Given the description of an element on the screen output the (x, y) to click on. 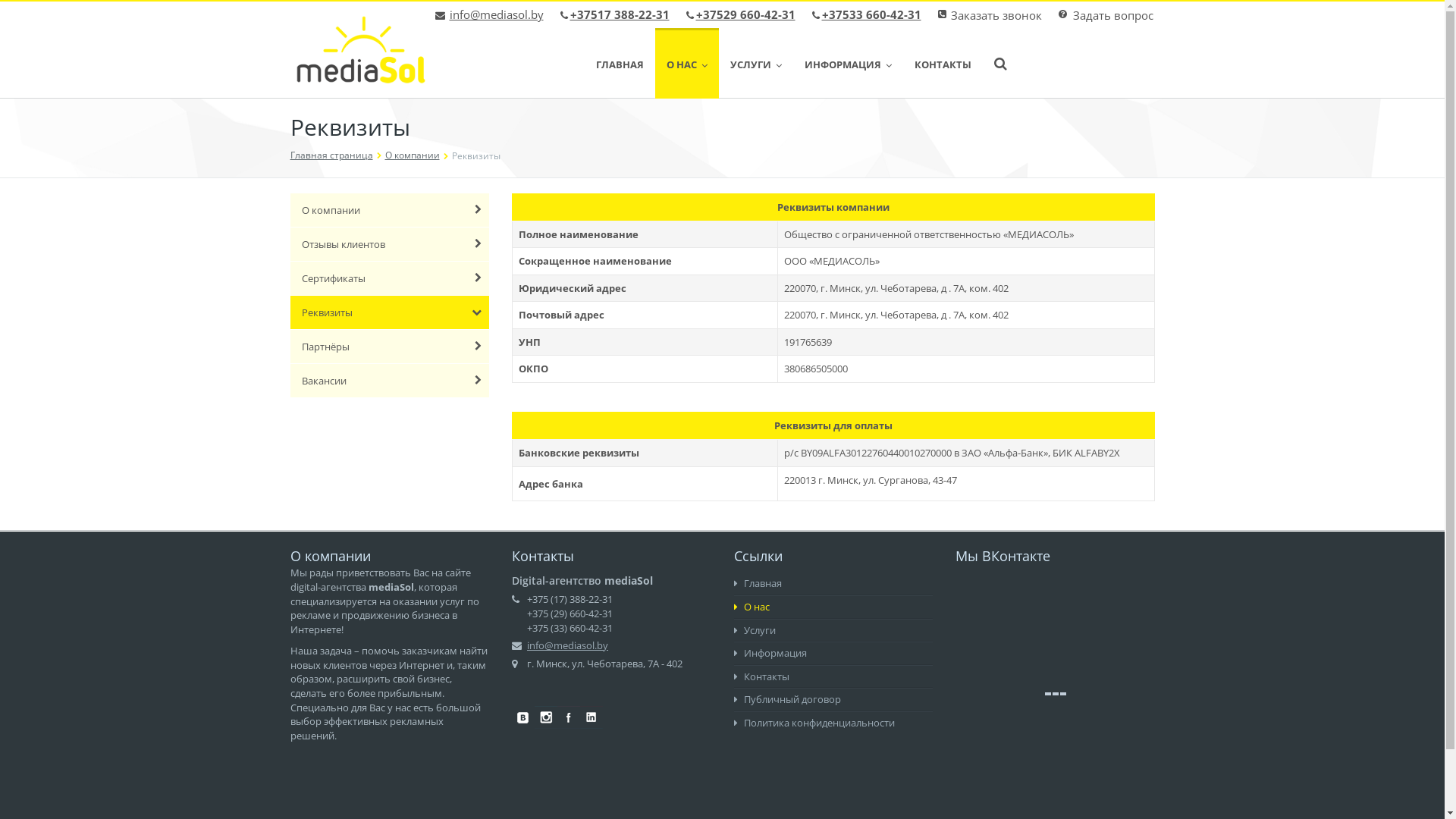
+37529 660-42-31 Element type: text (745, 13)
+37533 660-42-31 Element type: text (871, 13)
info@mediasol.by Element type: text (567, 645)
+37517 388-22-31 Element type: text (619, 13)
info@mediasol.by Element type: text (495, 13)
